Given the description of an element on the screen output the (x, y) to click on. 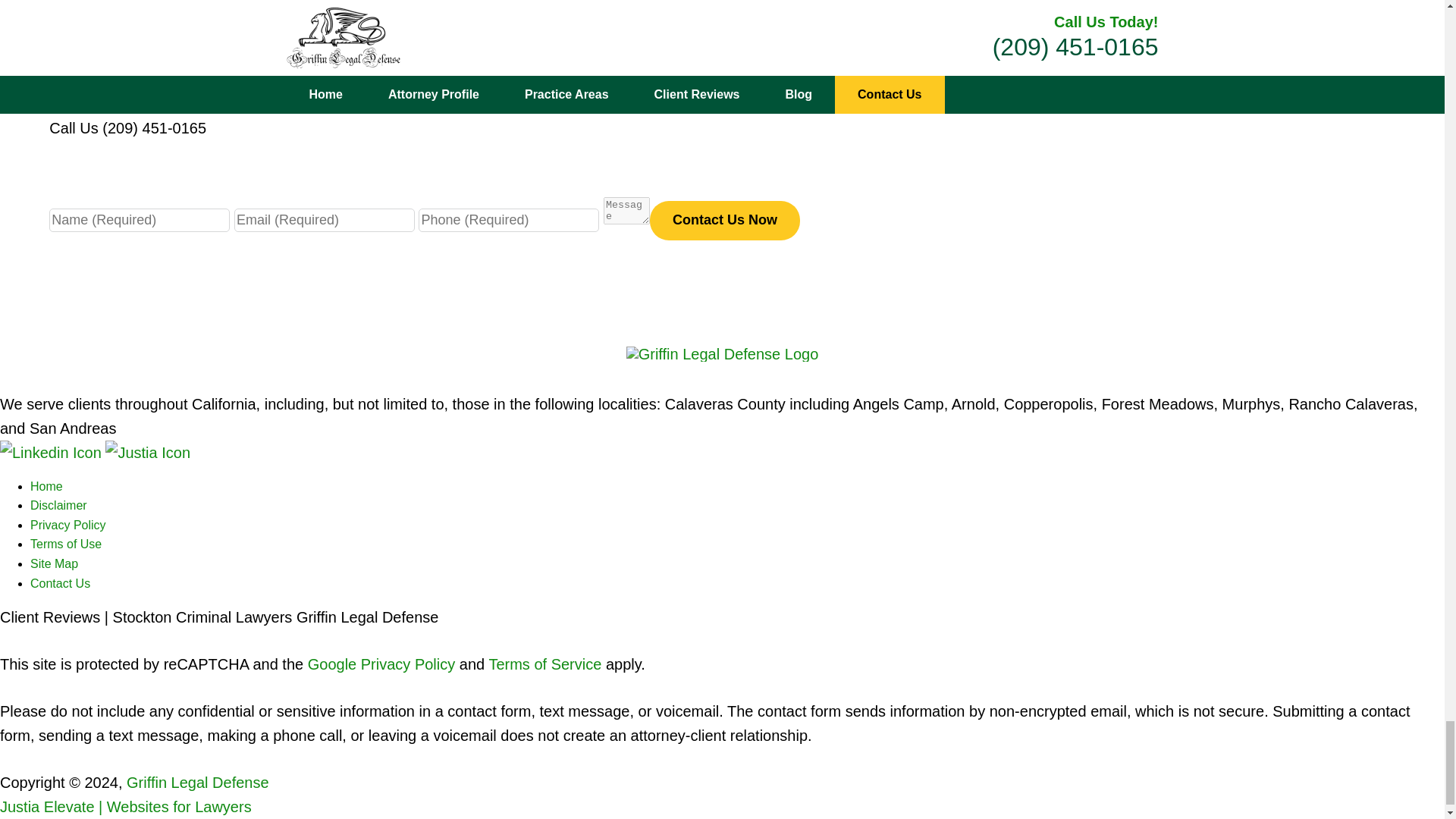
Contact Us Now (724, 220)
Home (46, 486)
Contact Us (60, 583)
Justia (147, 452)
Griffin Legal Defense (197, 782)
Privacy Policy (68, 524)
Linkedin (52, 452)
Disclaimer (58, 504)
Terms of Use (65, 543)
Google Privacy Policy (381, 664)
Terms of Service (544, 664)
Site Map (54, 563)
